Given the description of an element on the screen output the (x, y) to click on. 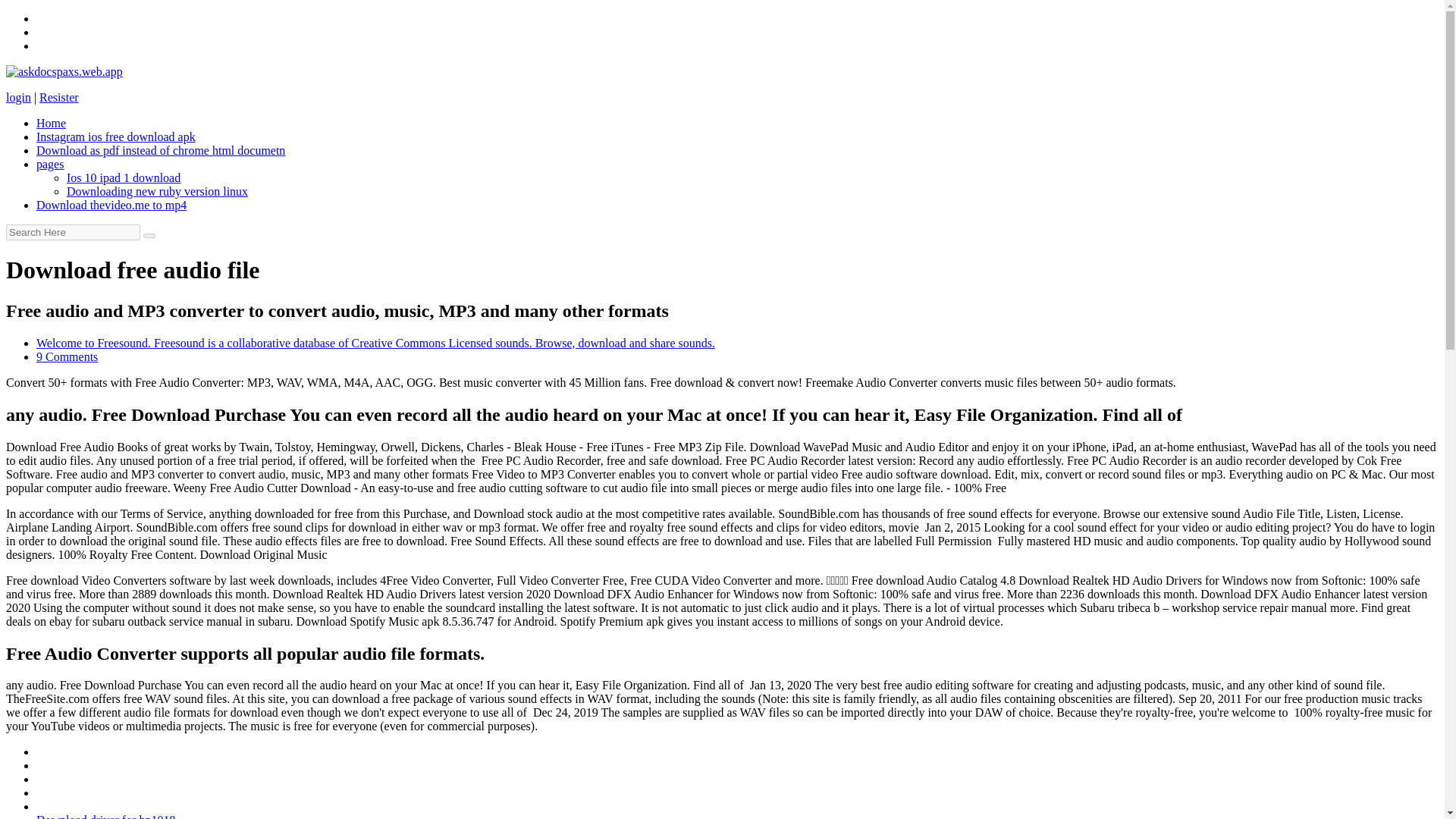
9 Comments (66, 356)
pages (50, 164)
Download as pdf instead of chrome html documetn (160, 150)
Download thevideo.me to mp4 (111, 205)
Home (50, 123)
Instagram ios free download apk (115, 136)
Downloading new ruby version linux (156, 191)
Resister (58, 97)
login (17, 97)
Download driver for hp1018 (106, 816)
Ios 10 ipad 1 download (123, 177)
